Given the description of an element on the screen output the (x, y) to click on. 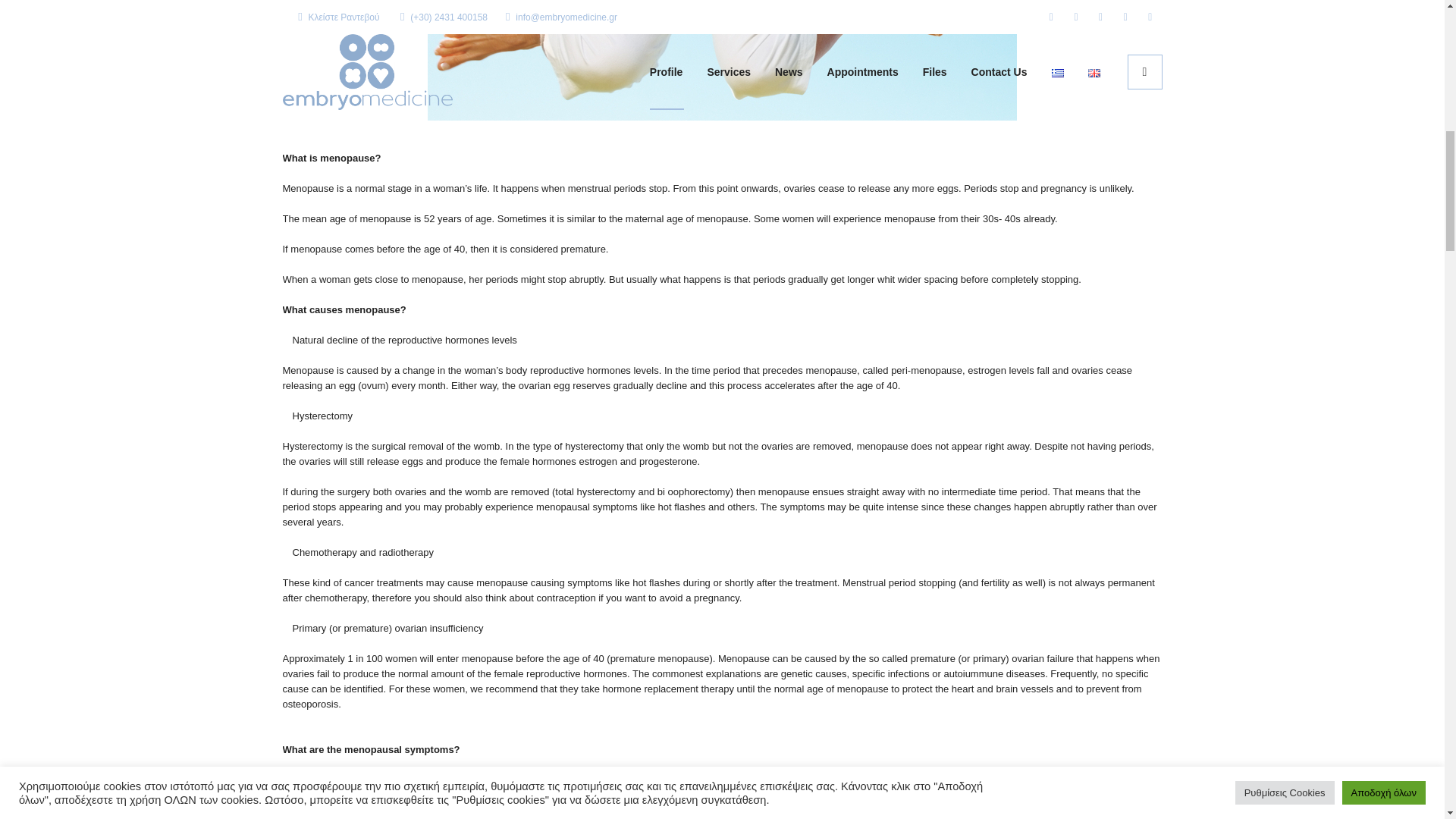
Menopause (721, 60)
